Given the description of an element on the screen output the (x, y) to click on. 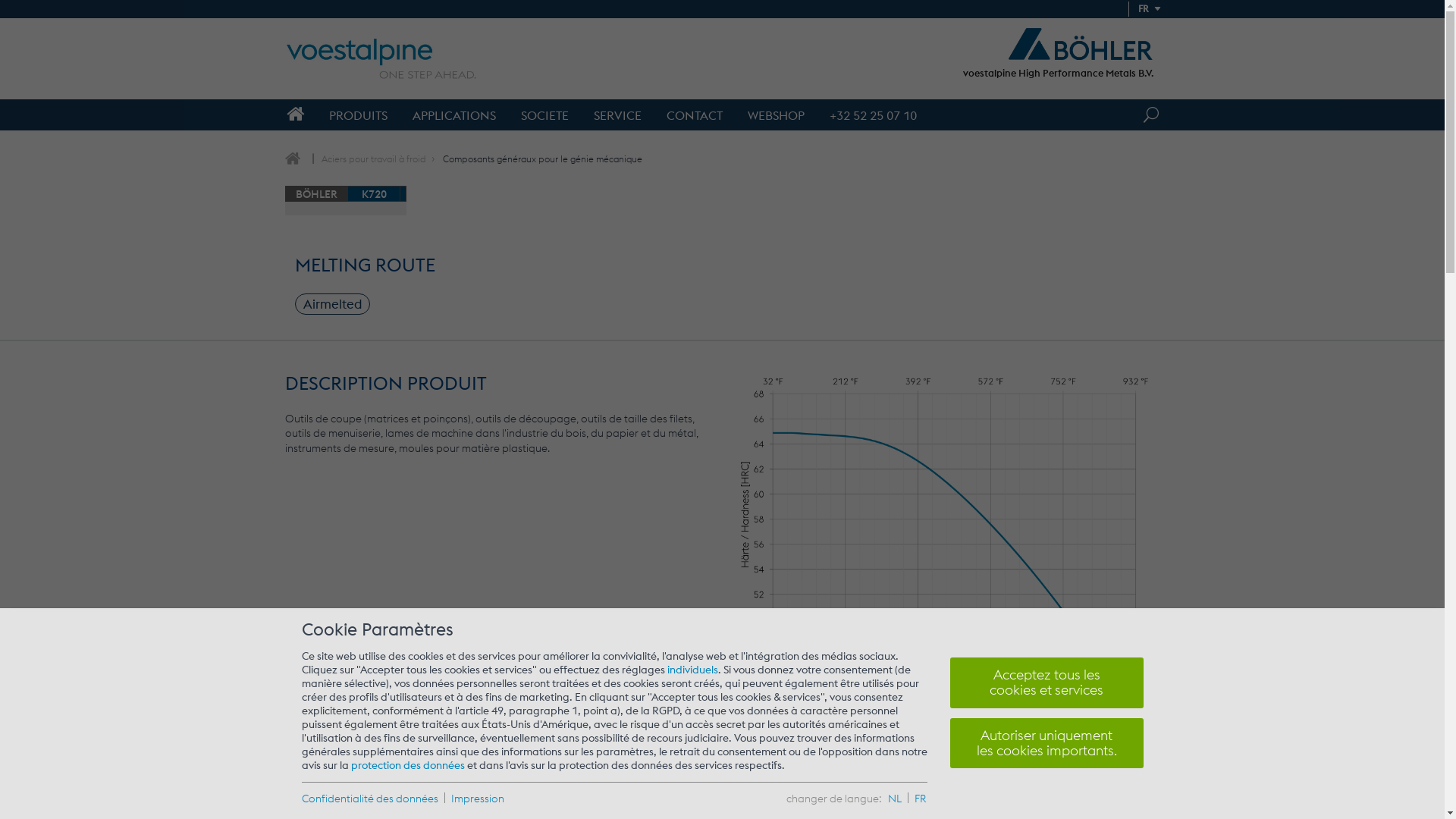
PRODUITS Element type: text (357, 114)
+32 52 25 07 10 Element type: text (872, 114)
SERVICE Element type: text (617, 114)
SOCIETE Element type: text (544, 114)
FR Element type: text (1143, 8)
individuels Element type: text (692, 669)
WEBSHOP Element type: text (775, 114)
FR Element type: text (919, 798)
Acceptez tous les cookies et services Element type: text (1045, 682)
Impression Element type: text (471, 798)
CONTACT Element type: text (694, 114)
APPLICATIONS Element type: text (453, 114)
NL Element type: text (893, 798)
Autoriser uniquement les cookies importants. Element type: text (1045, 743)
voestalpine High Performance Metals B.V. Element type: text (1058, 72)
